Given the description of an element on the screen output the (x, y) to click on. 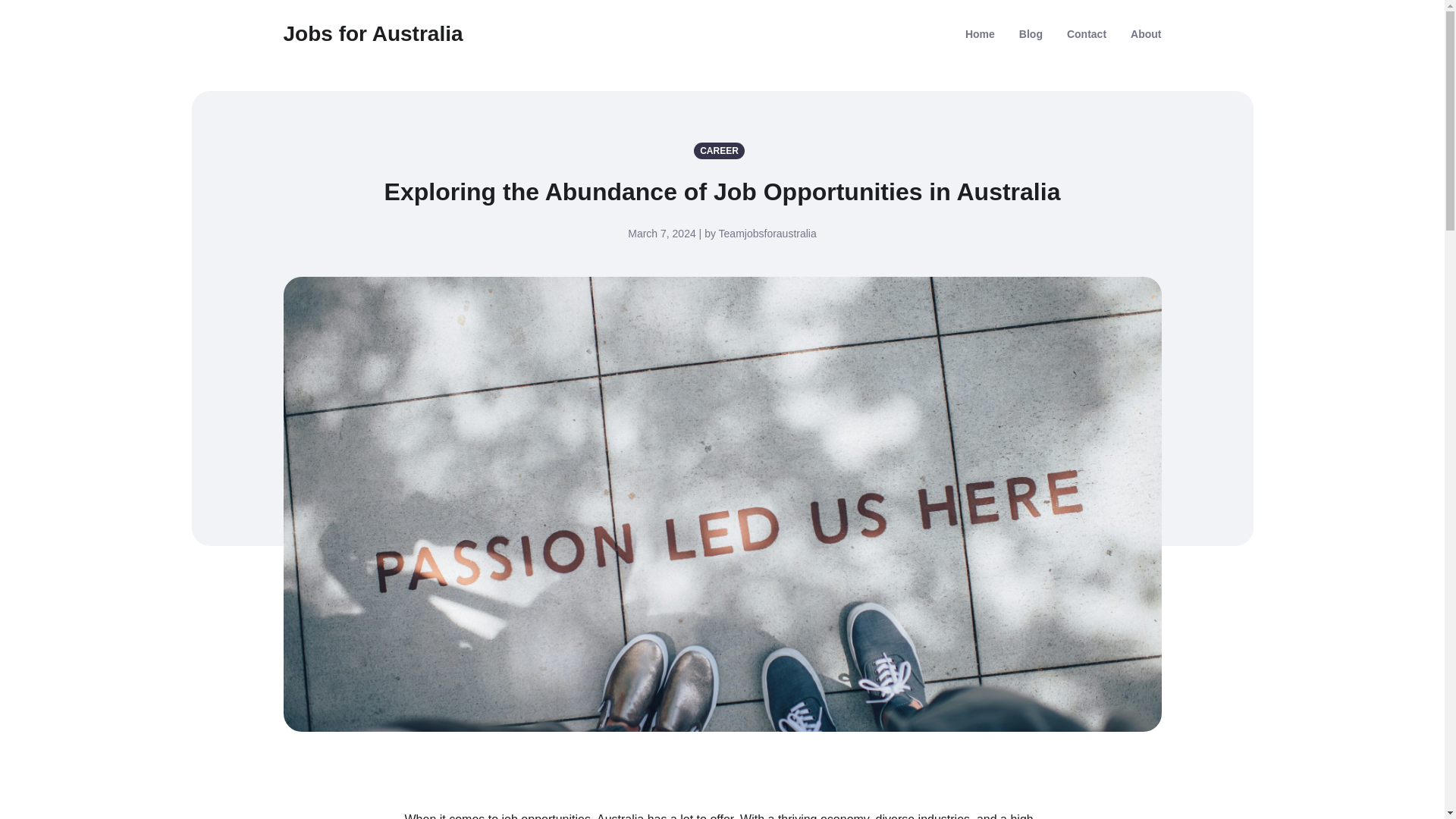
Home (979, 33)
About (1145, 33)
Blog (1030, 33)
Jobs for Australia (373, 33)
CAREER (722, 150)
Contact (1086, 33)
